Given the description of an element on the screen output the (x, y) to click on. 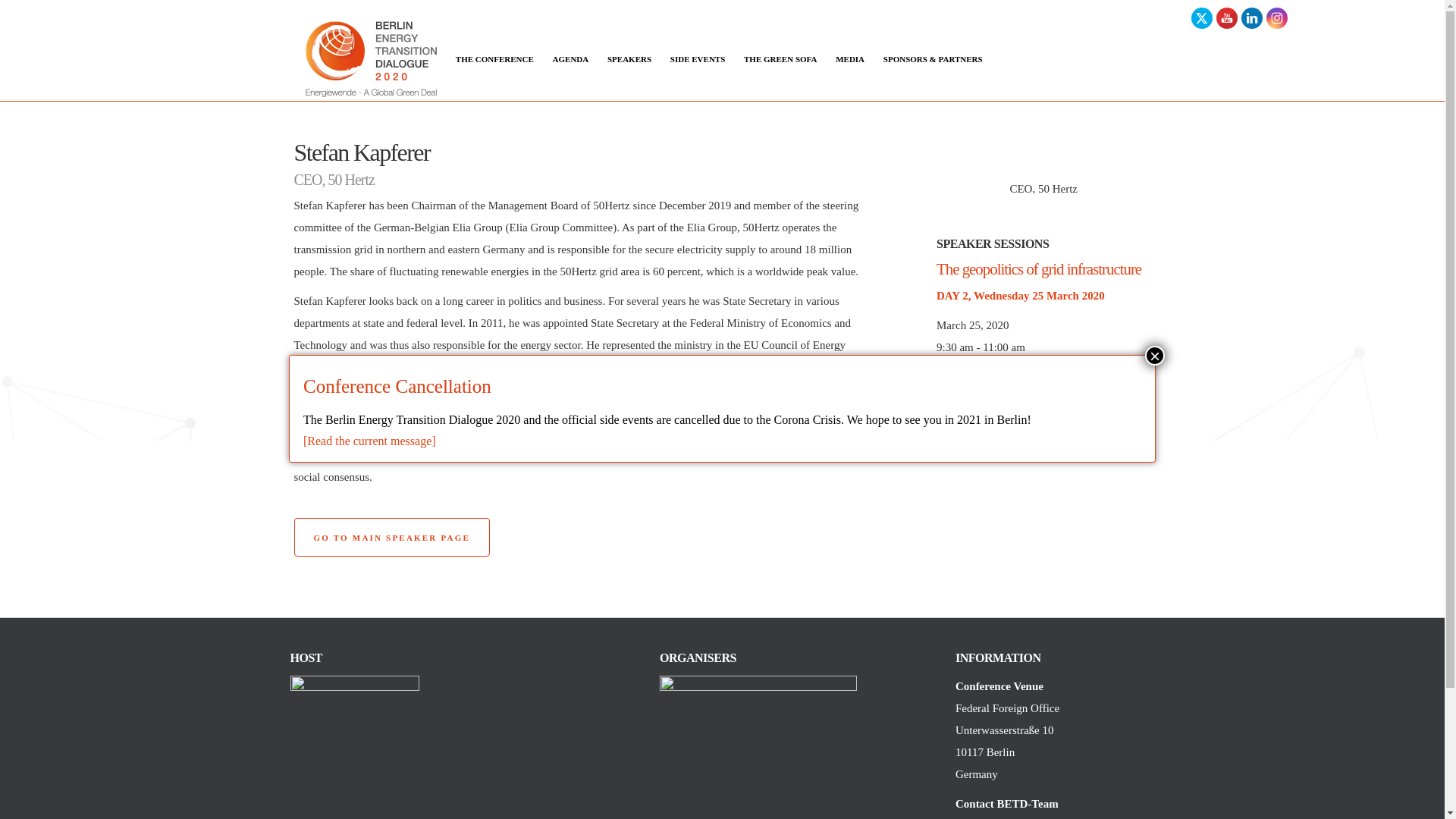
THE GREEN SOFA (780, 59)
SPEAKERS (628, 59)
The geopolitics of grid infrastructure (1038, 269)
LinkedIn (1251, 17)
Instagram (1276, 17)
SIDE EVENTS (697, 59)
AGENDA (571, 59)
GO TO MAIN SPEAKER PAGE (391, 536)
Twitter (1201, 18)
MEDIA (849, 59)
